Given the description of an element on the screen output the (x, y) to click on. 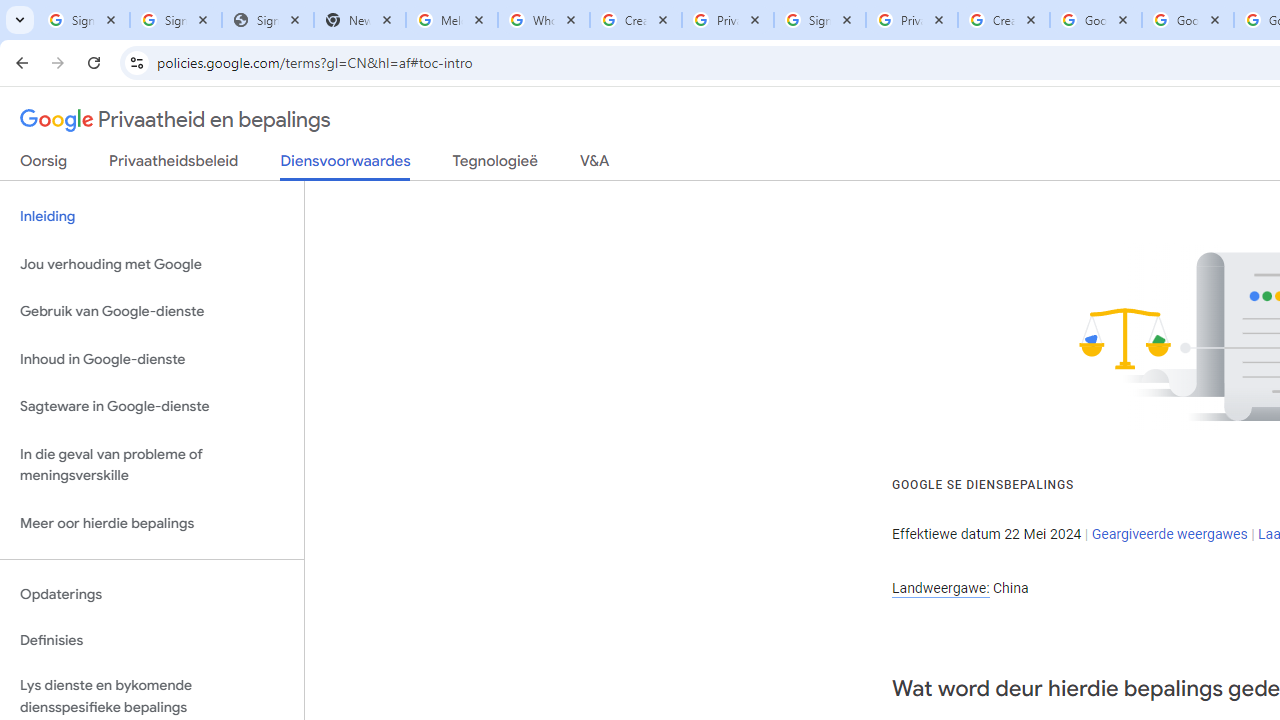
Undo Apply Quick Style Set (290, 31)
Match Fields... (1057, 161)
Insert Merge Field (927, 136)
Address Block... (757, 161)
